Given the description of an element on the screen output the (x, y) to click on. 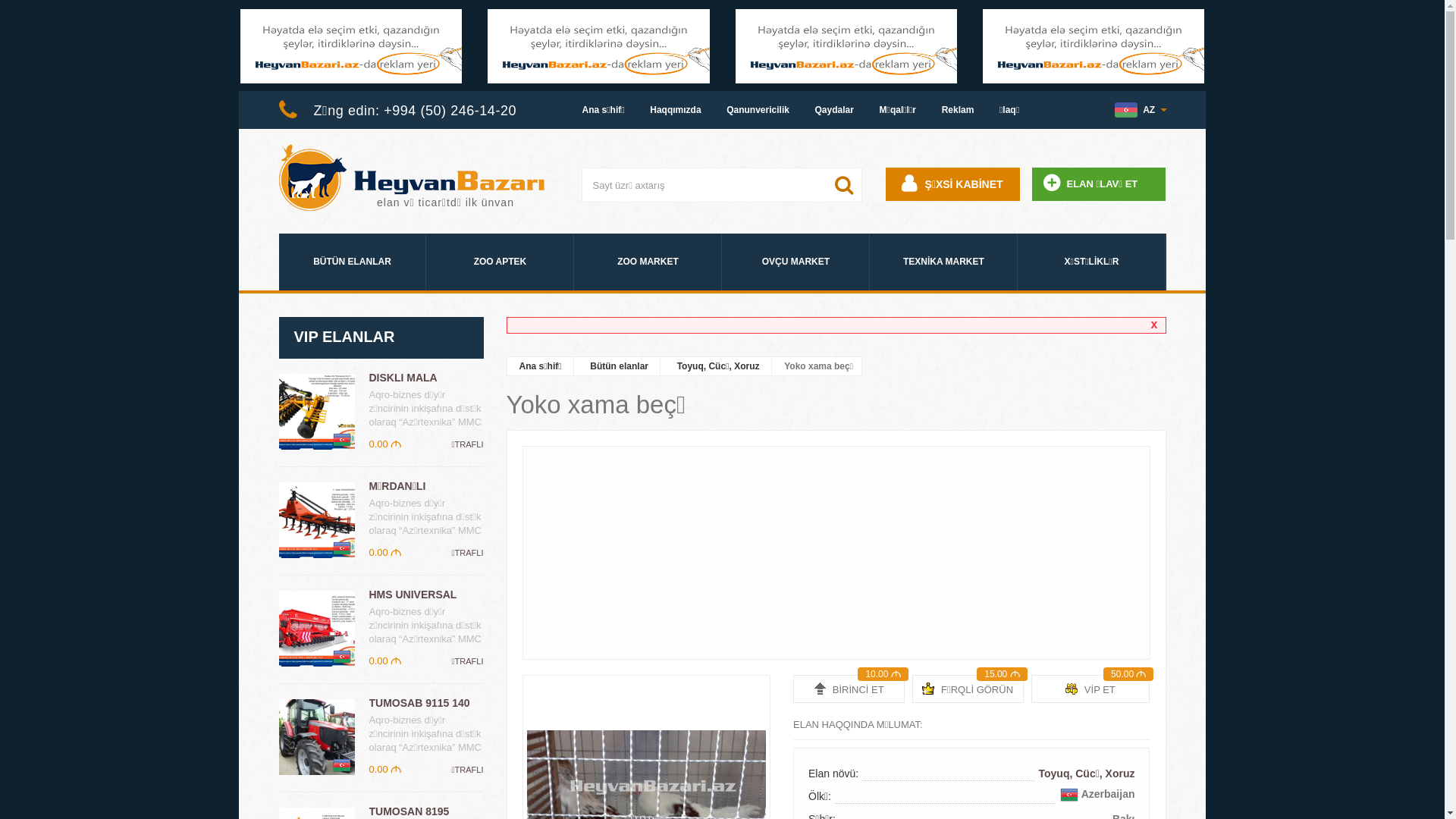
Advertisement Element type: hover (836, 552)
x Element type: text (1154, 324)
BIRINCI ET Element type: text (848, 688)
ZOO MARKET Element type: text (647, 261)
Reklam Element type: text (957, 109)
VIP ET Element type: text (1090, 688)
DISKLI MALA Element type: text (402, 377)
TEXNIKA MARKET Element type: text (942, 261)
TUMOSAN 8195 Element type: text (408, 811)
ZOO APTEK Element type: text (499, 261)
Diskli mala Element type: hover (316, 411)
Qaydalar Element type: text (834, 109)
Tumosab 9115 140 at Element type: hover (316, 737)
Qanunvericilik Element type: text (757, 109)
TUMOSAB 9115 140 AT Element type: text (418, 708)
